Given the description of an element on the screen output the (x, y) to click on. 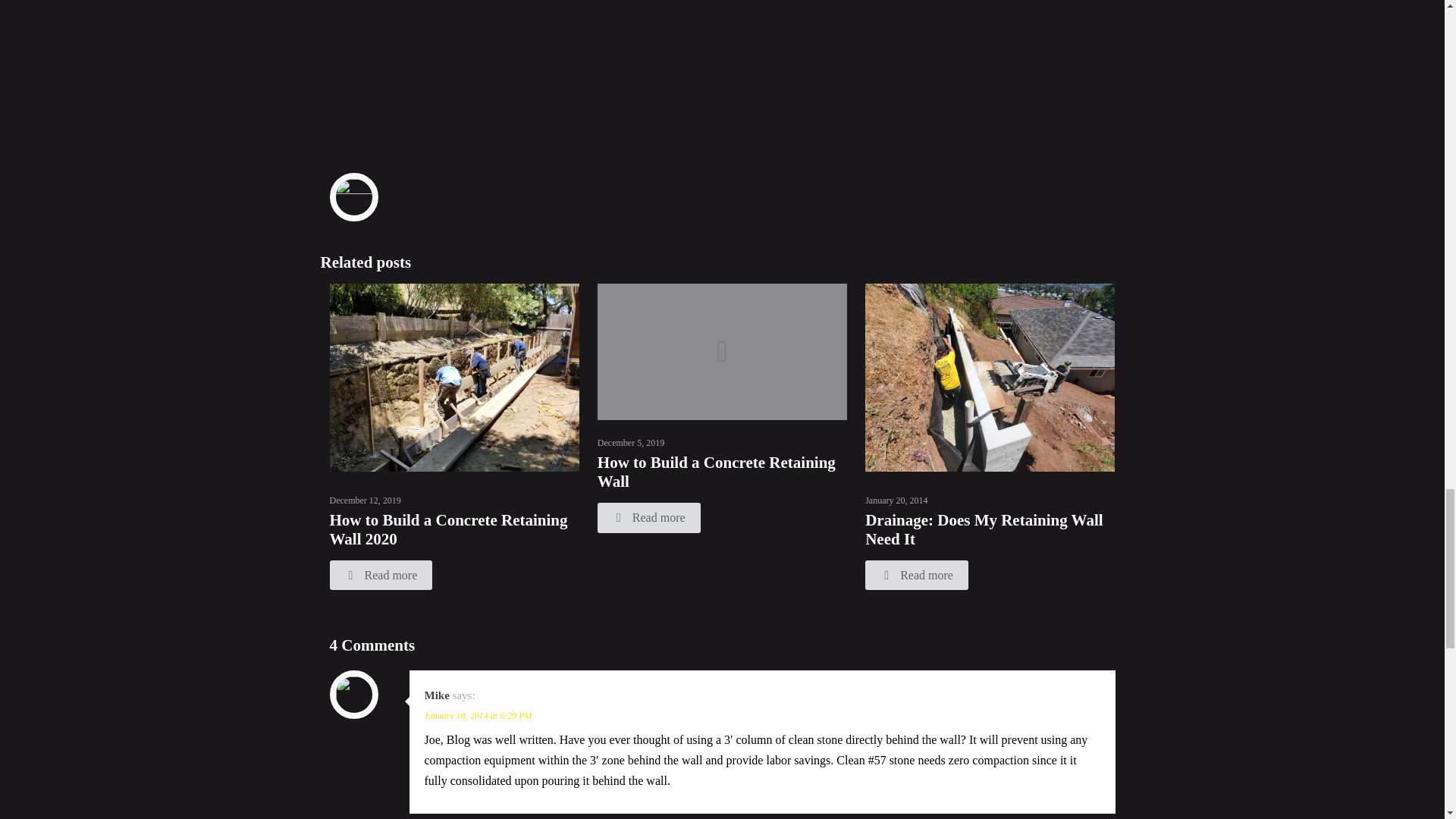
Contact All Access for free estimate (722, 69)
